Given the description of an element on the screen output the (x, y) to click on. 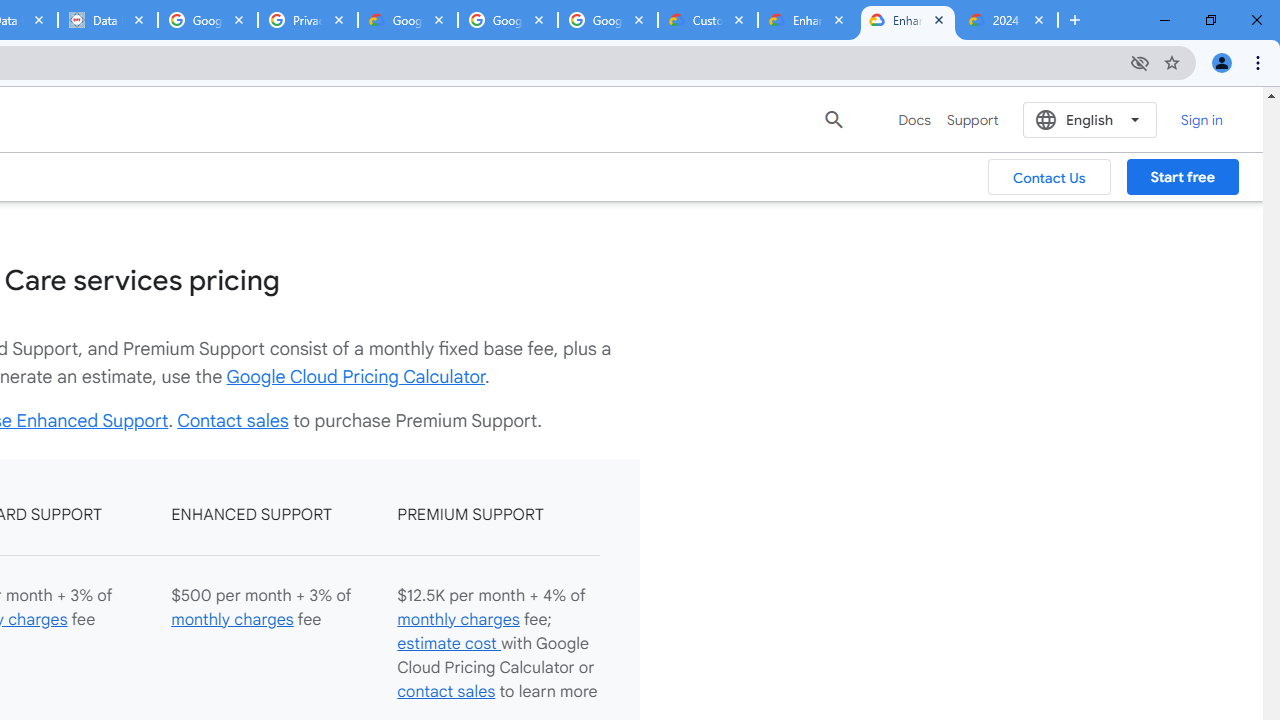
estimate cost  (448, 642)
contact sales (446, 691)
Enhanced Support | Google Cloud (907, 20)
Google Cloud Pricing Calculator (356, 376)
Google Cloud Terms Directory | Google Cloud (408, 20)
Contact sales (232, 420)
monthly charges (457, 619)
Enhanced Support | Google Cloud (807, 20)
Customer Care | Google Cloud (707, 20)
